Given the description of an element on the screen output the (x, y) to click on. 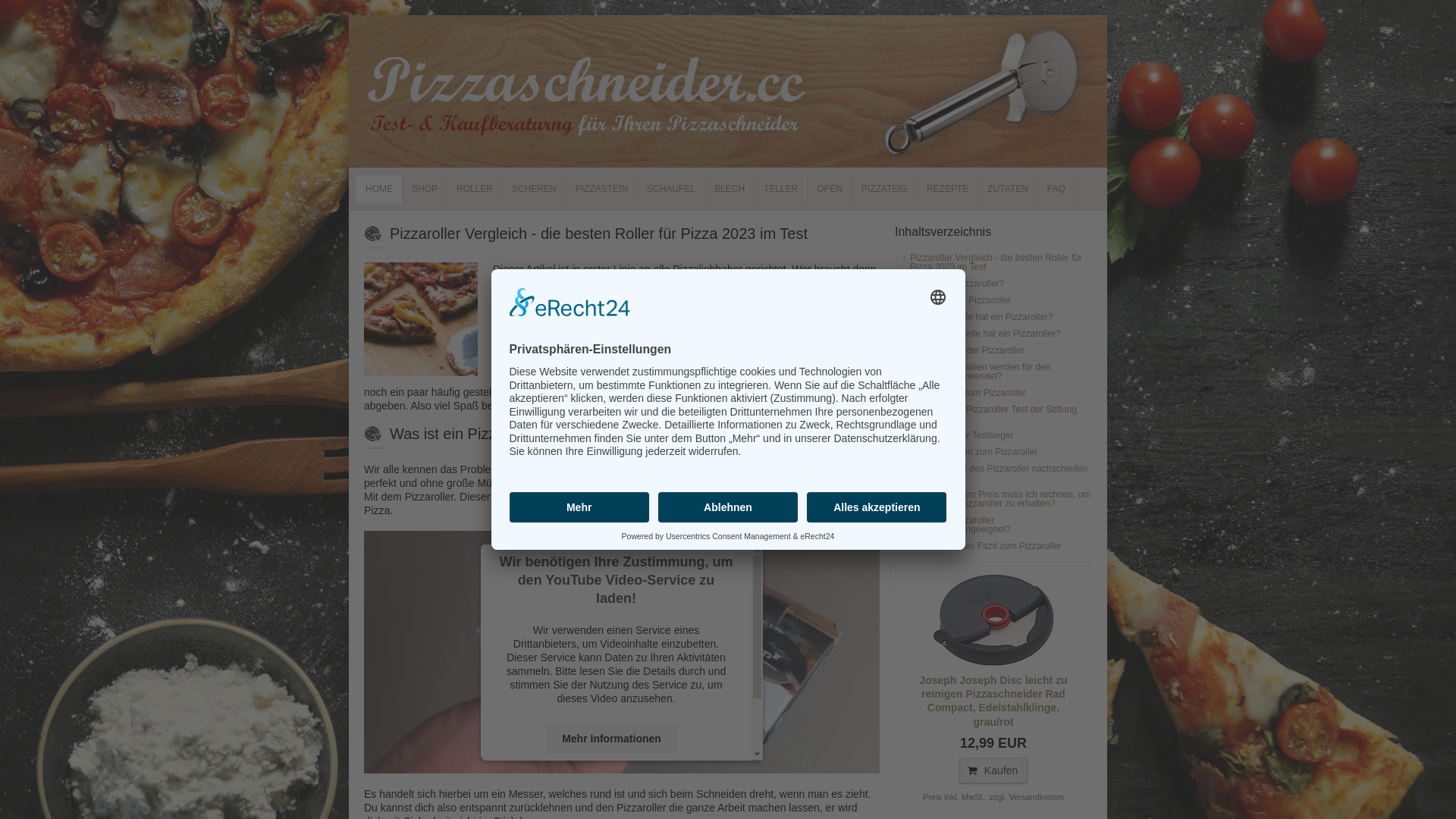
Gibt es einen Pizzaroller Test der Stiftung Warentest? Element type: text (993, 413)
ZUTATEN Element type: text (1008, 188)
ROLLER Element type: text (474, 188)
SHOP Element type: text (424, 188)
PIZZASTEIN Element type: text (601, 188)
FAQ Element type: text (1056, 188)
Was ist ein Pizzaroller? Element type: text (993, 283)
BLECH Element type: text (729, 188)
PIZZATEIG Element type: text (884, 188)
Hersteller von Pizzaroller Element type: text (993, 299)
Kaufkriterien zum Pizzaroller Element type: text (993, 392)
Der Pizzaroller Testsieger Element type: text (993, 434)
01. Kann man den Pizzaroller nachschleifen lassen? Element type: text (993, 473)
OFEN Element type: text (829, 188)
REZEPTE Element type: text (947, 188)
TELLER Element type: text (780, 188)
Unterschiede der Pizzaroller Element type: text (993, 350)
HOME Element type: text (379, 188)
Kaufen Element type: text (993, 770)
Welche Vorteile hat ein Pizzaroller? Element type: text (993, 316)
SCHEREN Element type: text (534, 188)
Pizzaschneider Element type: text (632, 496)
SCHAUFEL Element type: text (671, 188)
Welche Nachteile hat ein Pizzaroller? Element type: text (993, 333)
